Given the description of an element on the screen output the (x, y) to click on. 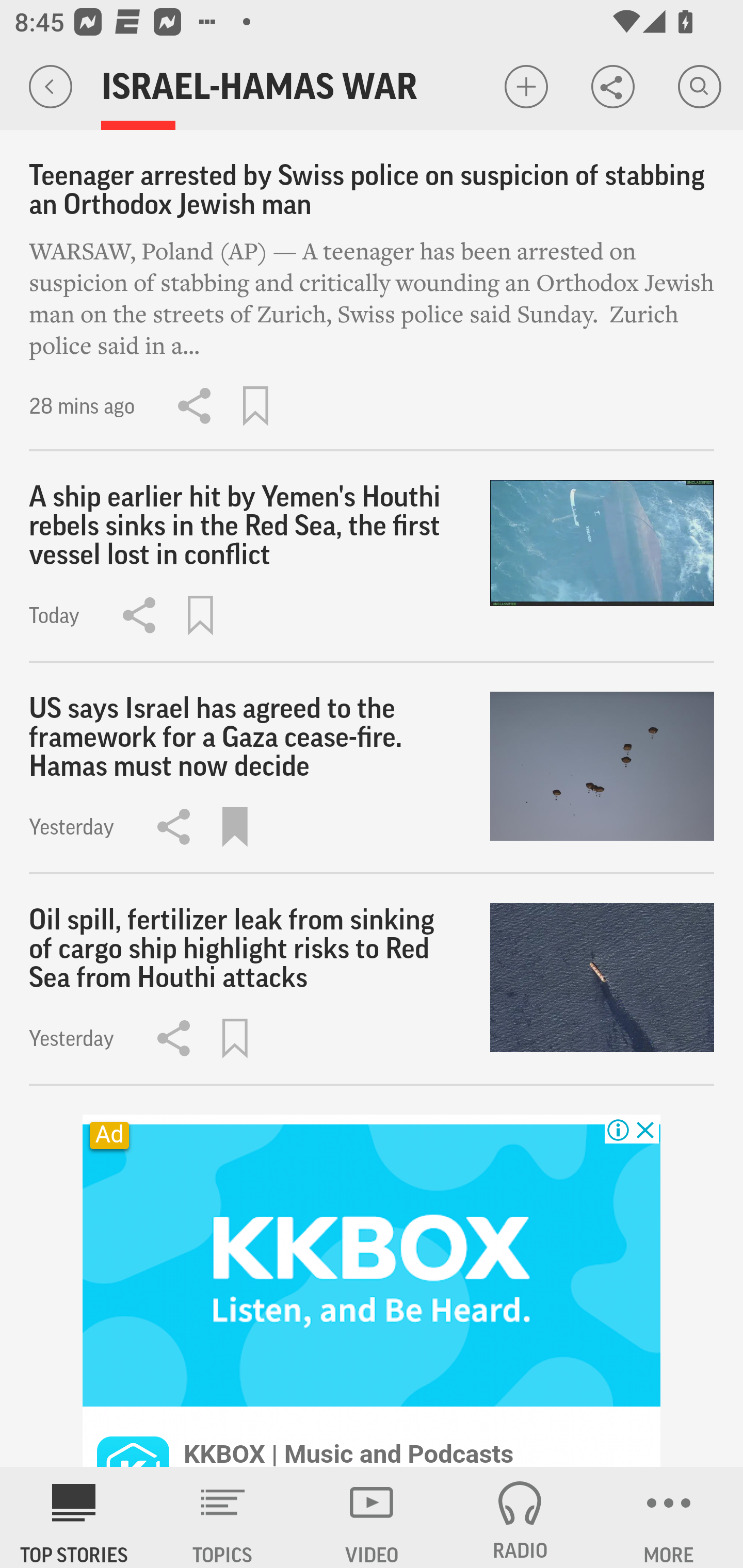
KKBOX | Music and Podcasts (348, 1452)
AP News TOP STORIES (74, 1517)
TOPICS (222, 1517)
VIDEO (371, 1517)
RADIO (519, 1517)
MORE (668, 1517)
